Given the description of an element on the screen output the (x, y) to click on. 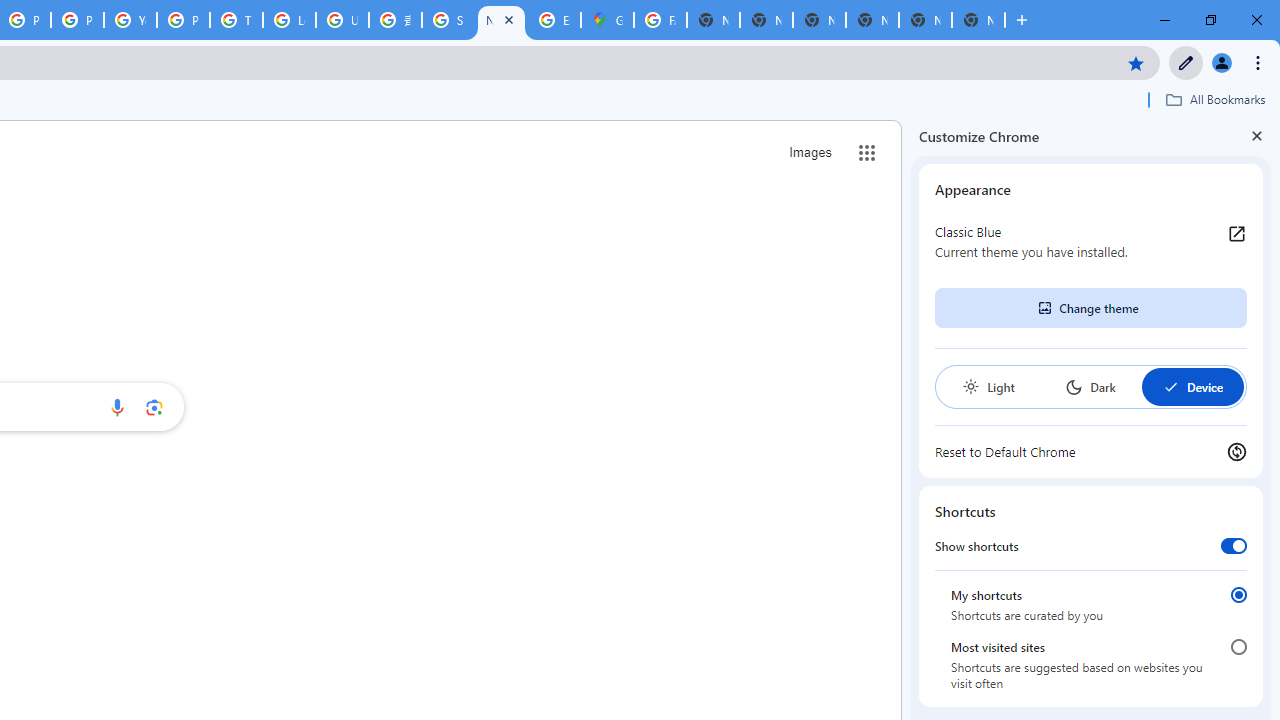
Device (1192, 386)
Light (988, 386)
Tips & tricks for Chrome - Google Chrome Help (235, 20)
New Tab (978, 20)
Classic Blue Current theme you have installed. (1091, 241)
Sign in - Google Accounts (448, 20)
